Given the description of an element on the screen output the (x, y) to click on. 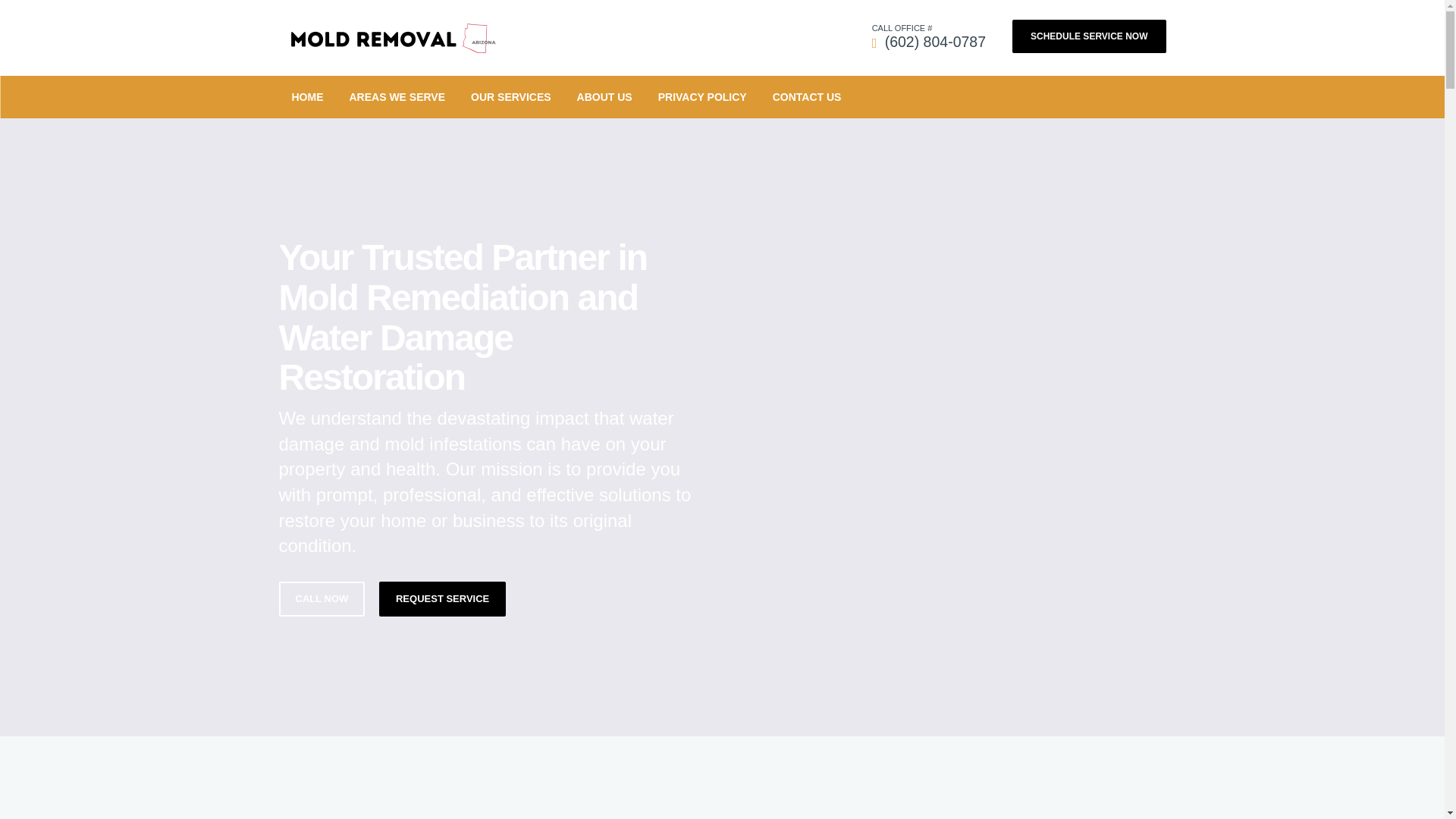
AREAS WE SERVE (397, 96)
SCHEDULE SERVICE NOW (1088, 36)
HOME (307, 96)
